Given the description of an element on the screen output the (x, y) to click on. 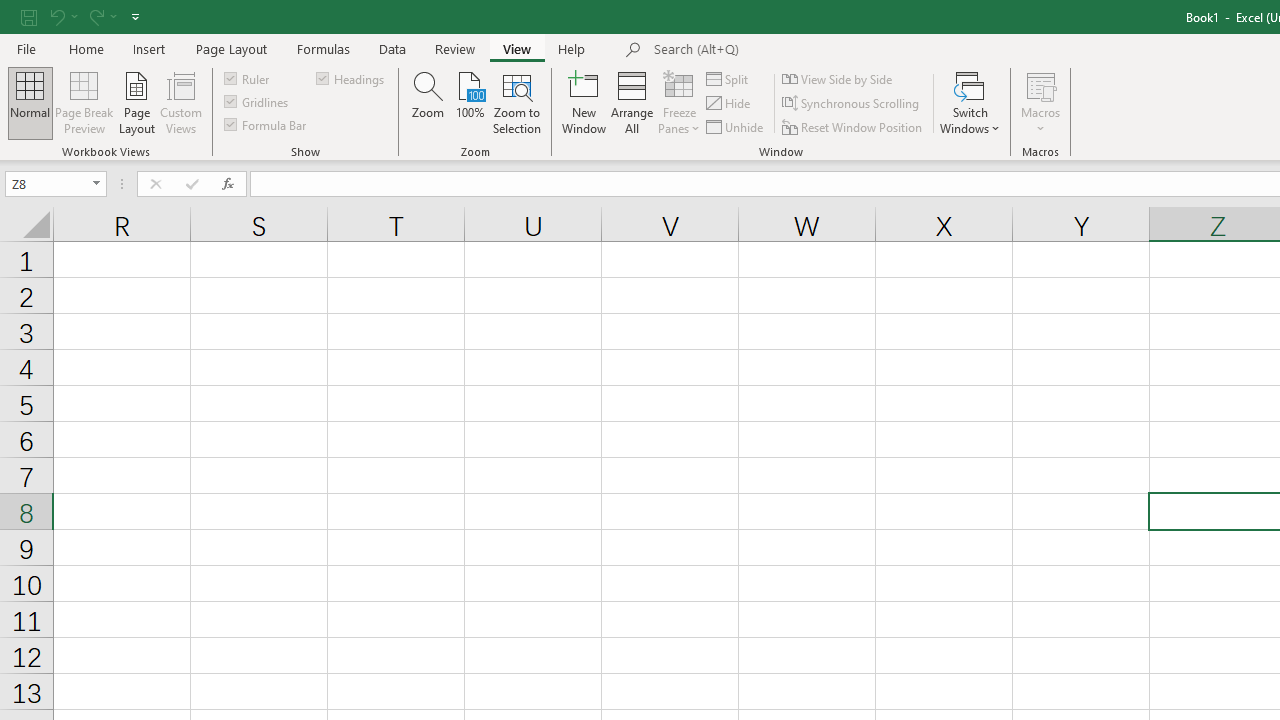
Split (728, 78)
Reset Window Position (854, 126)
New Window (584, 102)
Freeze Panes (678, 102)
Custom Views... (180, 102)
Hide (729, 103)
